Given the description of an element on the screen output the (x, y) to click on. 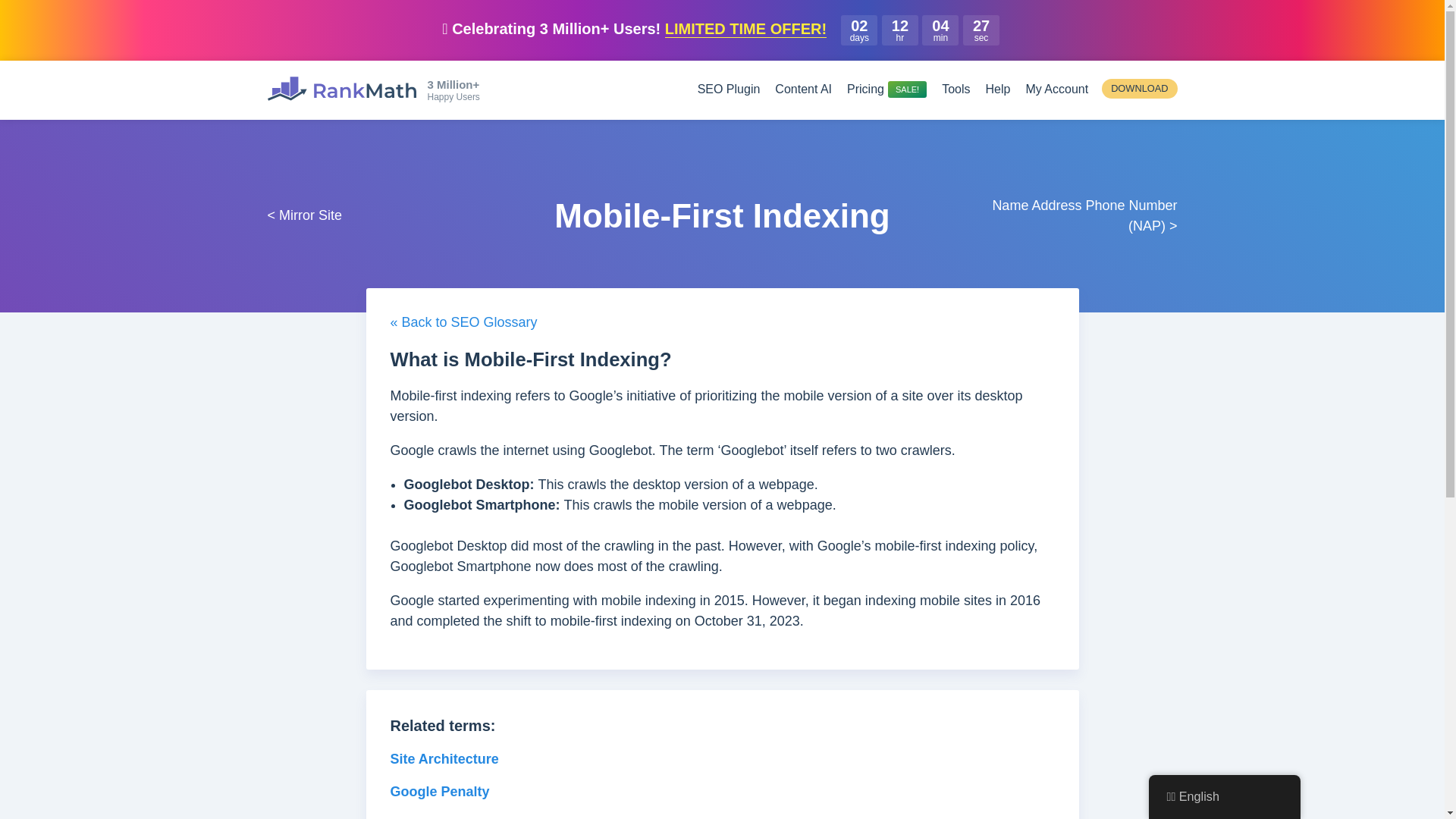
DOWNLOAD (1139, 88)
Swiss Army Knife of WordPress SEO (340, 88)
LIMITED TIME OFFER! (746, 28)
My Account (1056, 88)
Content AI (802, 88)
Pricing (886, 88)
Download Rank Math Plugin for FREE (1139, 88)
Pricing Details (886, 88)
